Given the description of an element on the screen output the (x, y) to click on. 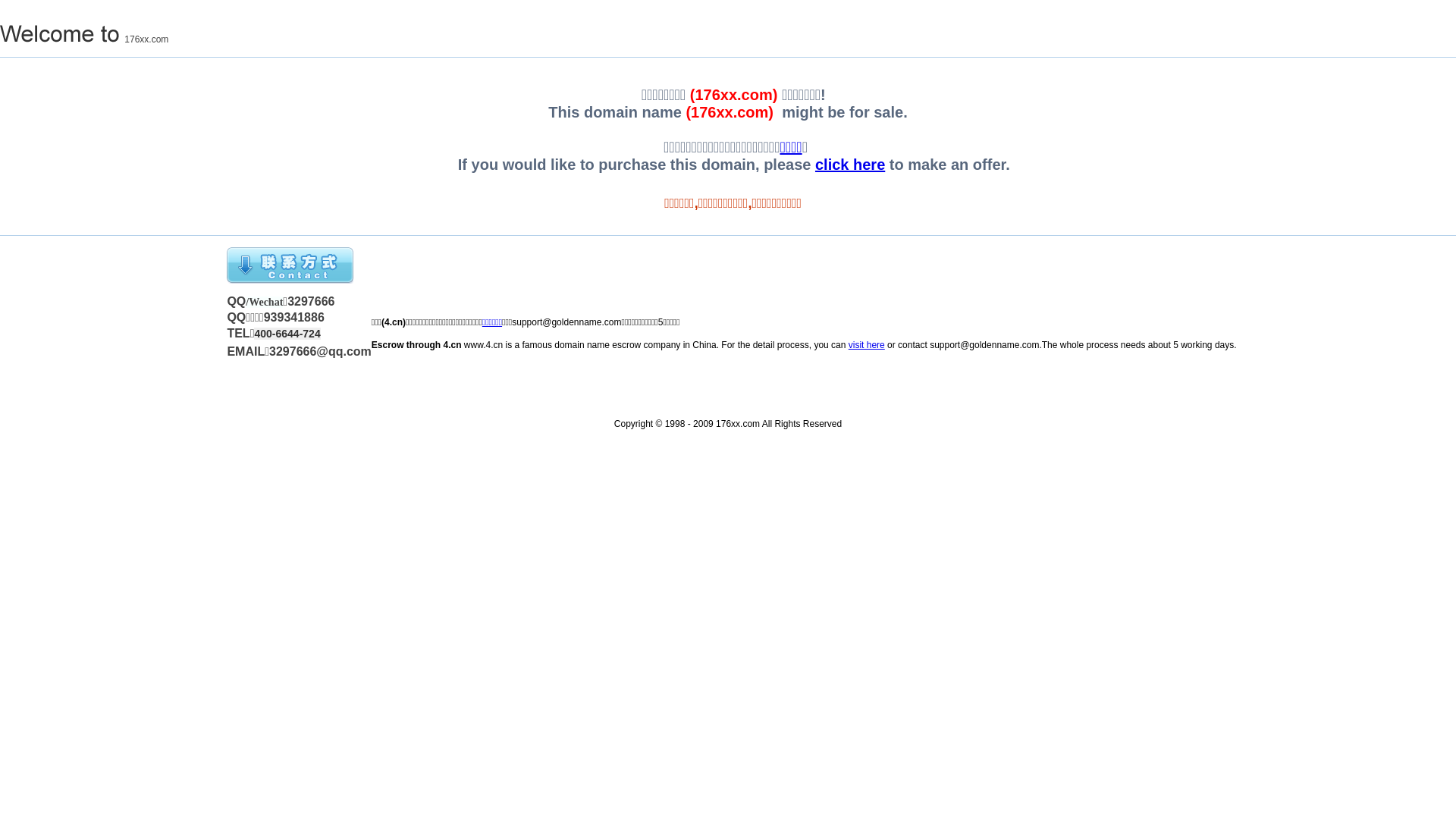
click here Element type: text (849, 164)
visit here Element type: text (866, 344)
